Given the description of an element on the screen output the (x, y) to click on. 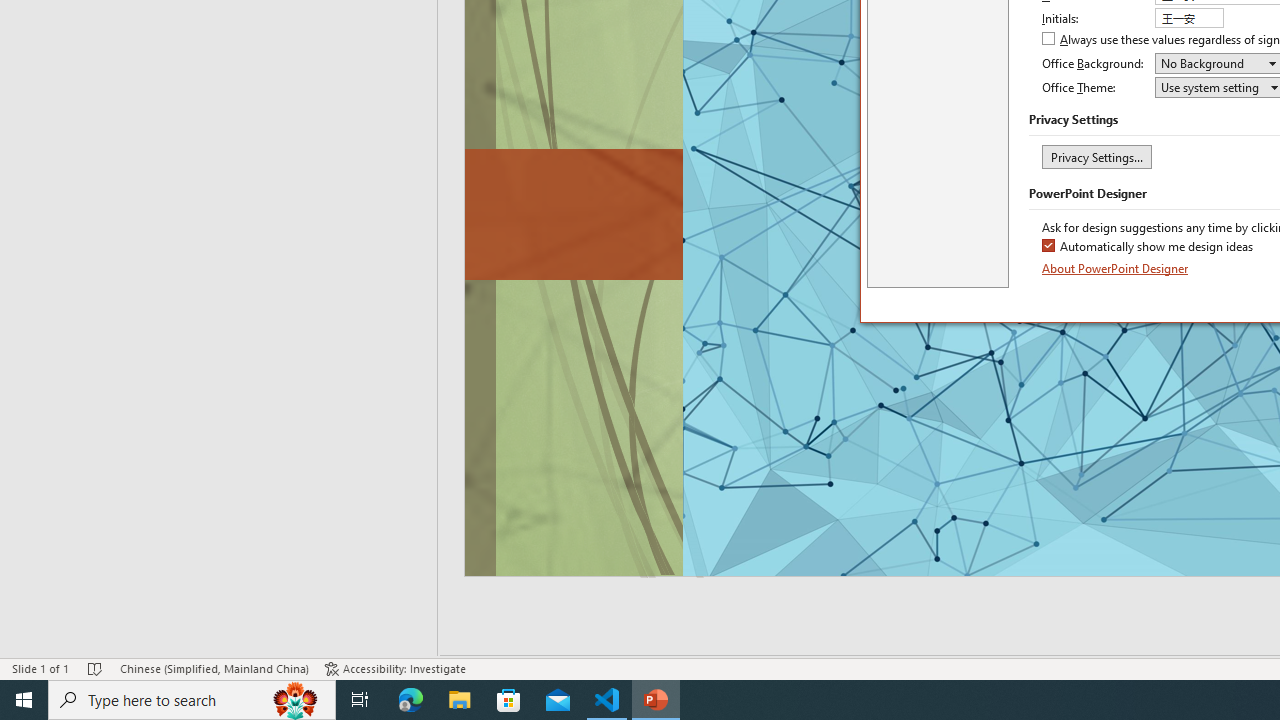
Privacy Settings... (1096, 156)
